Given the description of an element on the screen output the (x, y) to click on. 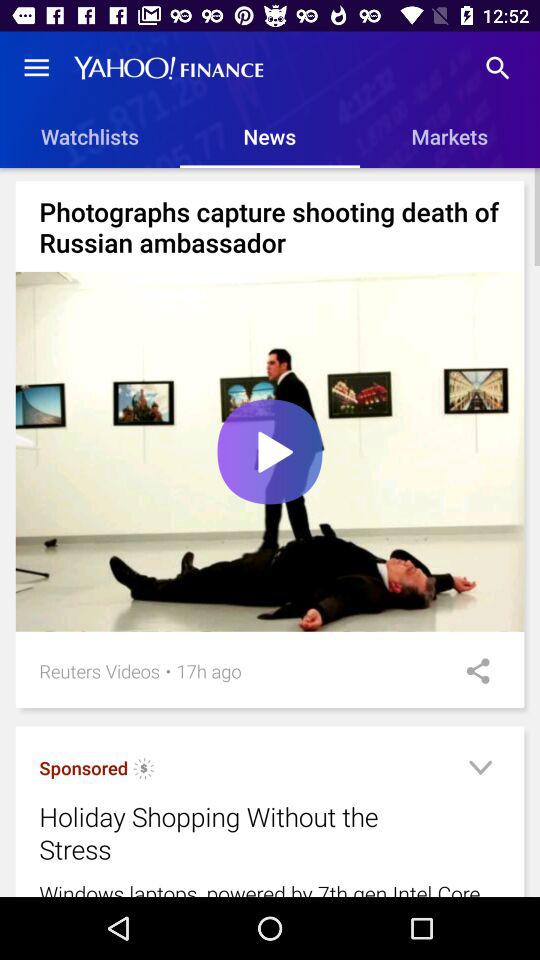
click to more option (480, 770)
